Given the description of an element on the screen output the (x, y) to click on. 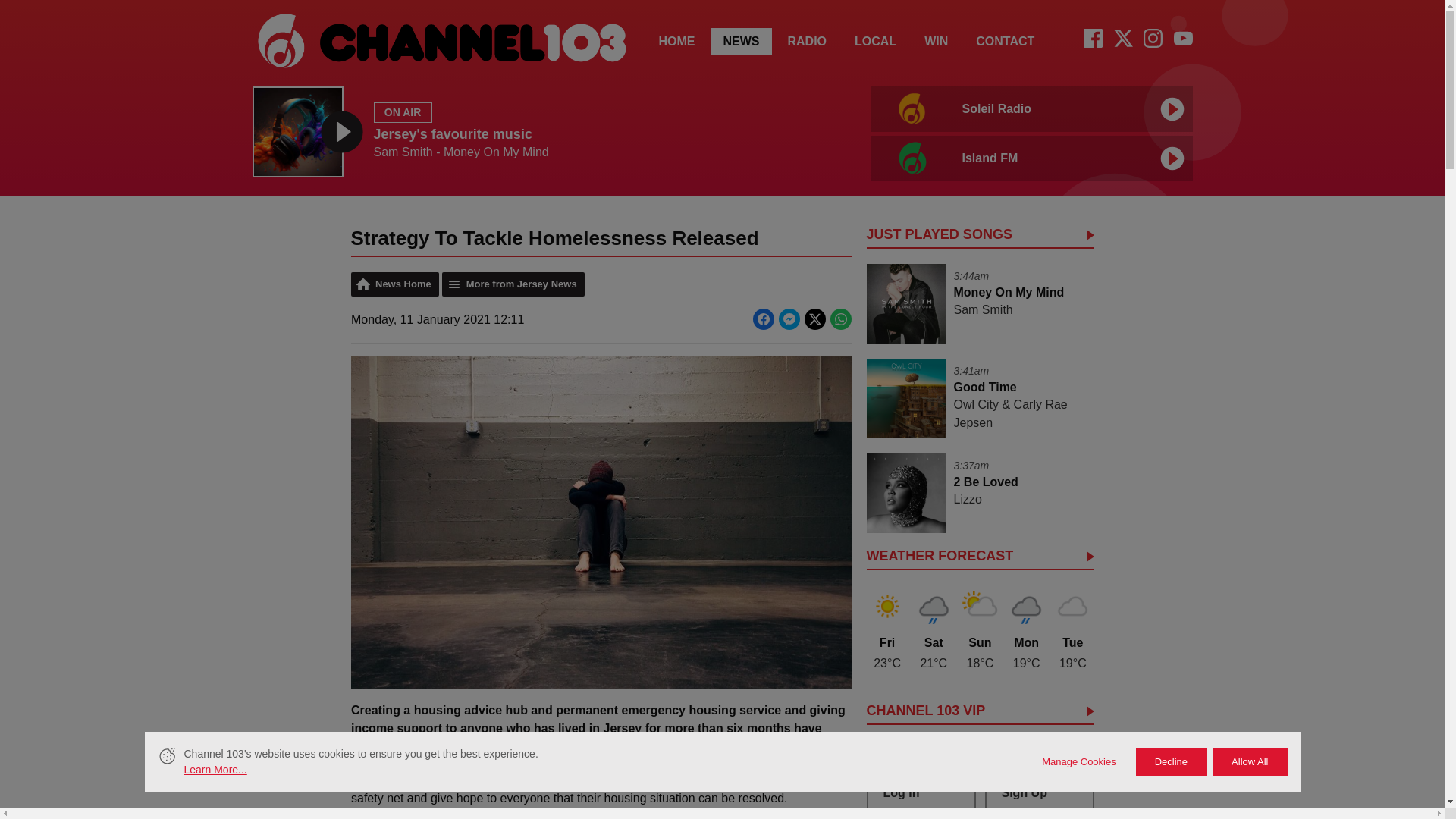
CONTACT (1004, 40)
HOME (676, 40)
X (1122, 37)
LOCAL (1027, 131)
WIN (875, 40)
X (935, 40)
NEWS (1122, 42)
RADIO (741, 40)
